Given the description of an element on the screen output the (x, y) to click on. 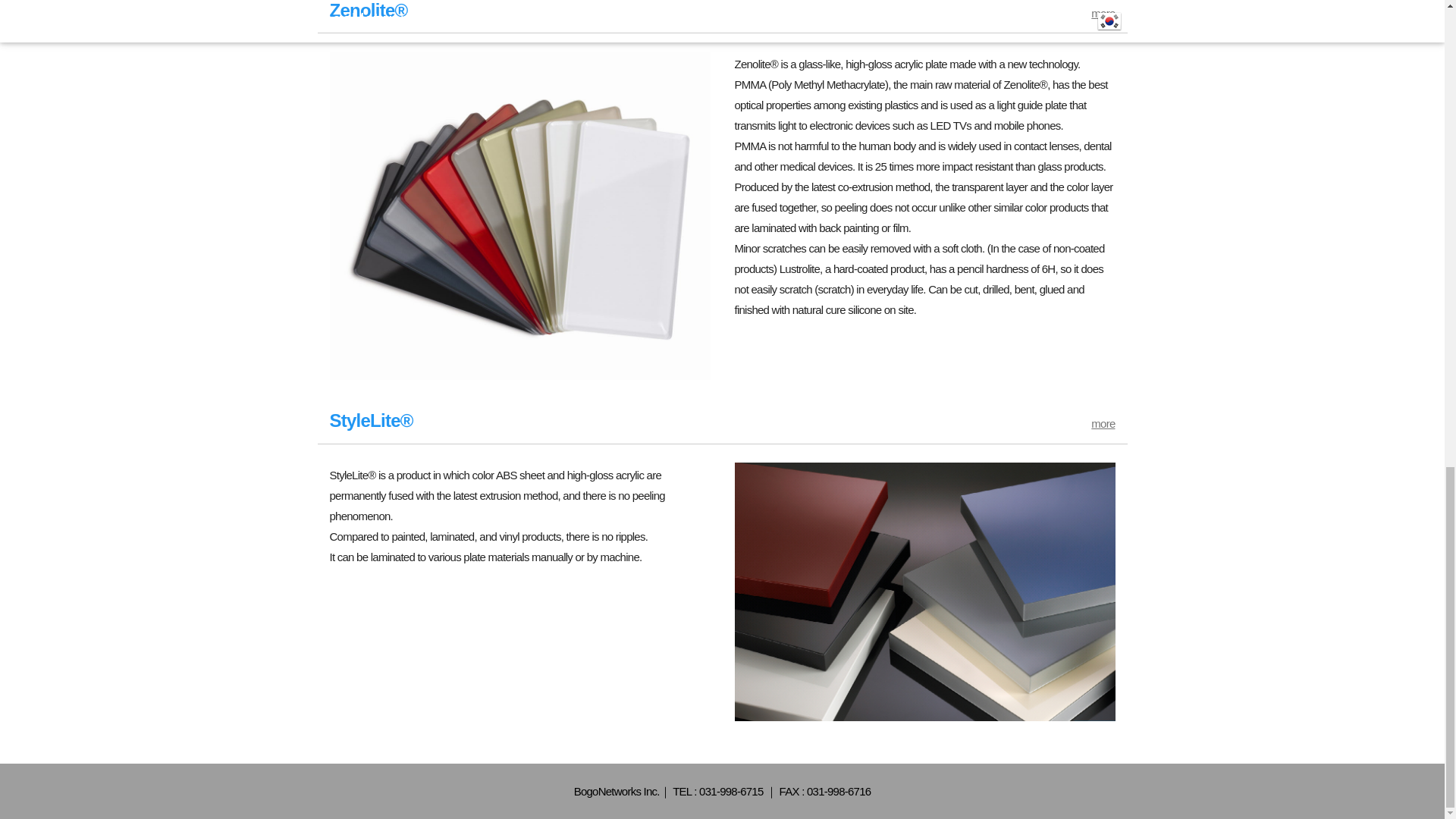
more (1102, 422)
more (1102, 12)
